Given the description of an element on the screen output the (x, y) to click on. 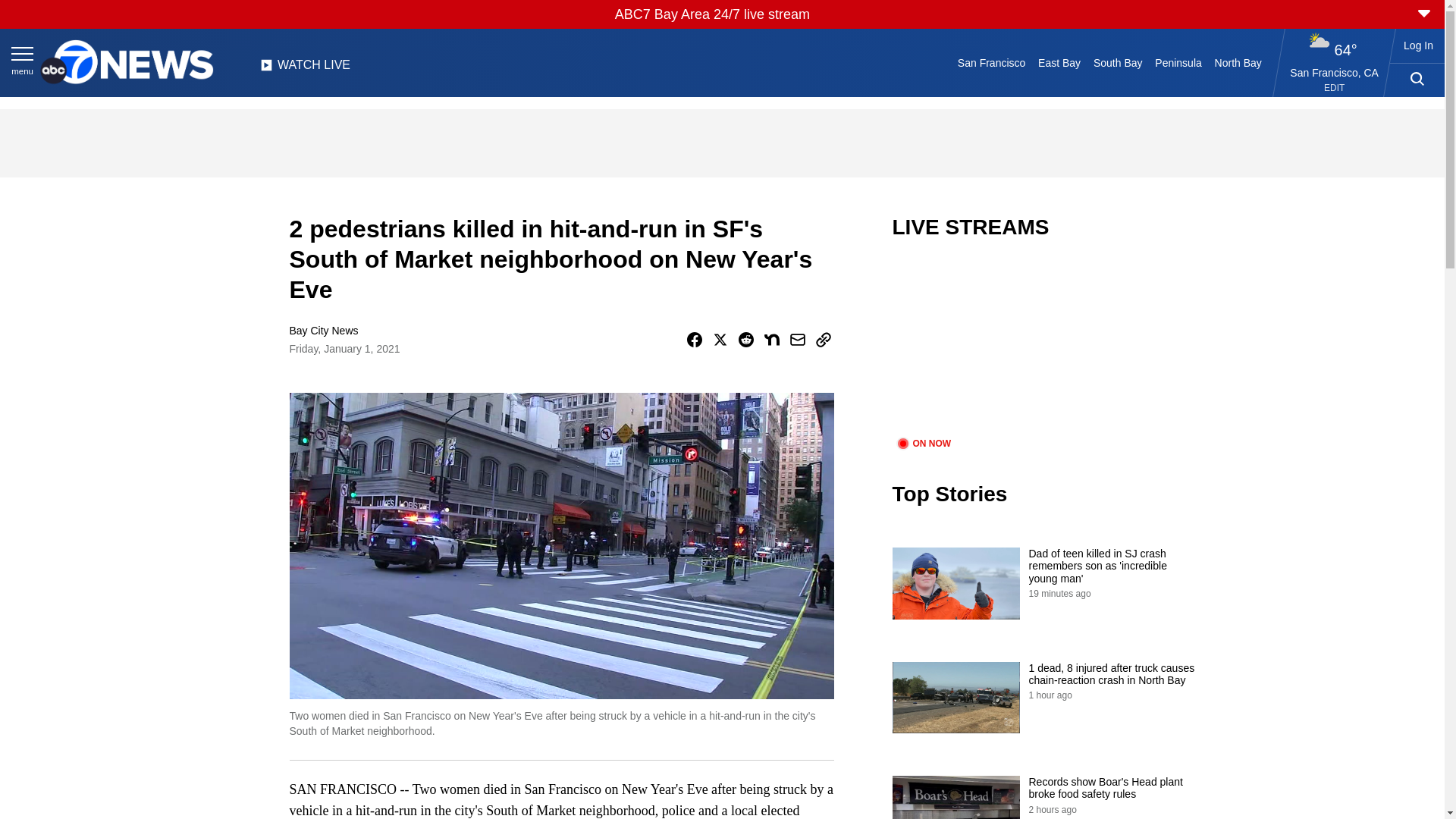
EDIT (1333, 87)
San Francisco (990, 62)
South Bay (1117, 62)
North Bay (1238, 62)
San Francisco, CA (1334, 72)
Peninsula (1178, 62)
East Bay (1059, 62)
WATCH LIVE (305, 69)
video.title (1043, 347)
